Given the description of an element on the screen output the (x, y) to click on. 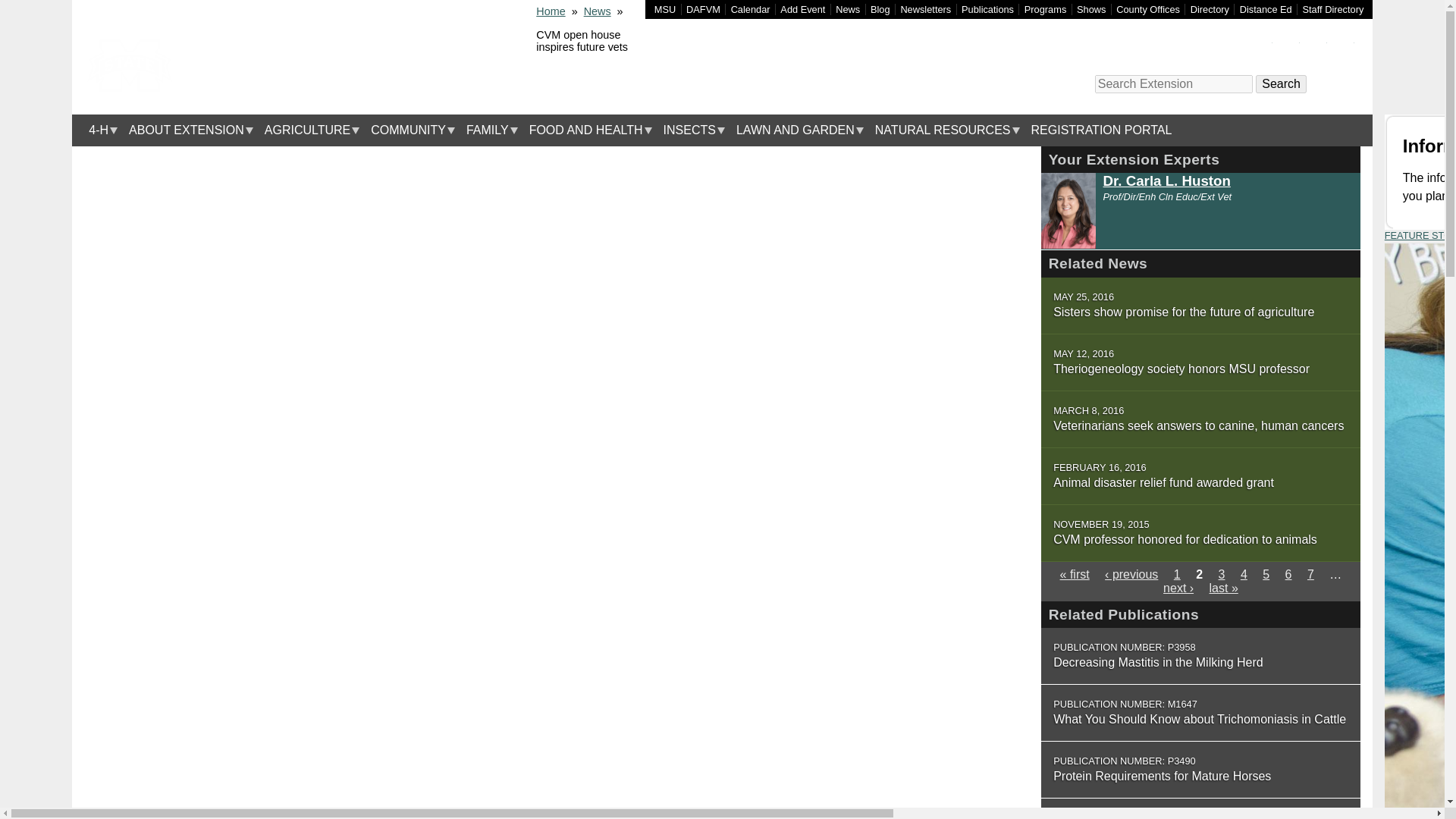
Publications (986, 9)
News (847, 9)
Programs (1045, 9)
Search (1280, 84)
Newsletters (924, 9)
Directory of employees of the MSU Extension Service (1333, 9)
Find a county extension office (1147, 9)
Directory (1209, 9)
